Given the description of an element on the screen output the (x, y) to click on. 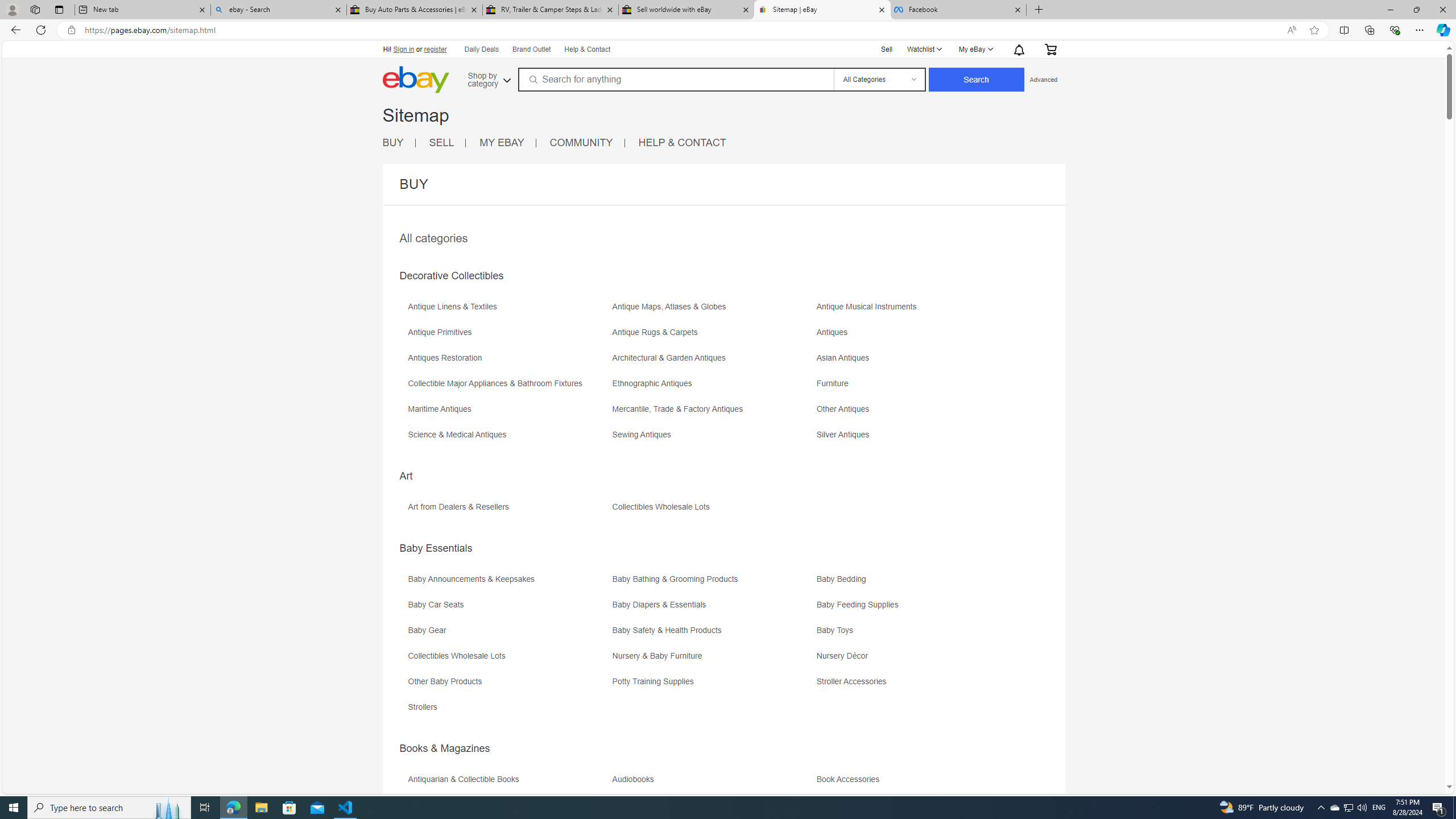
register (434, 49)
Antiques Restoration (447, 357)
Antiquarian & Collectible Books (466, 779)
Antique Linens & Textiles (508, 310)
Collectible Major Appliances & Bathroom Fixtures (497, 383)
Baby Bedding (917, 582)
MY EBAY (507, 142)
Nursery & Baby Furniture (659, 655)
Furniture (917, 387)
Silver Antiques (917, 438)
Sitemap | eBay (822, 9)
COMMUNITY (586, 142)
